Given the description of an element on the screen output the (x, y) to click on. 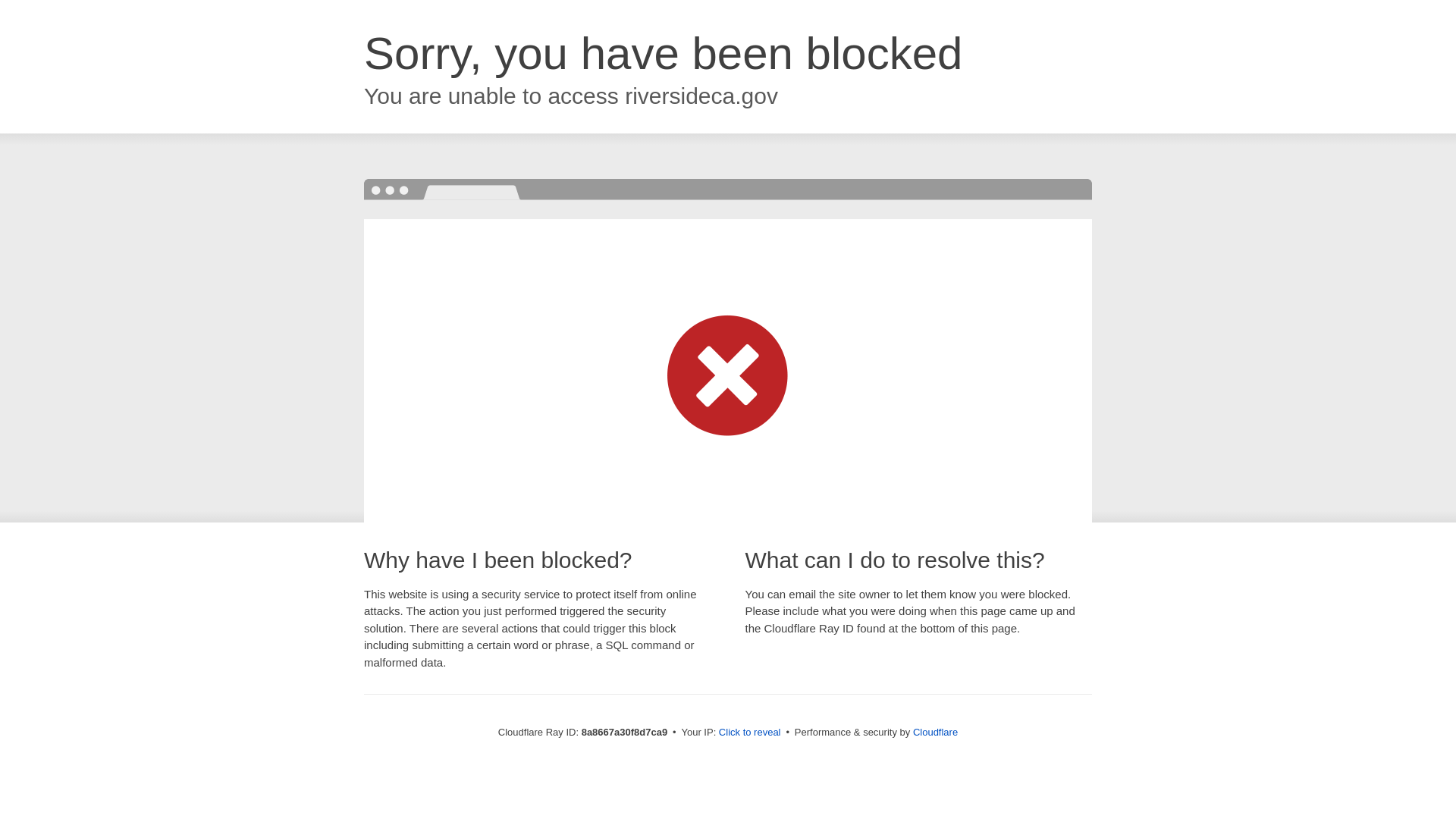
Click to reveal (749, 732)
Cloudflare (935, 731)
